Given the description of an element on the screen output the (x, y) to click on. 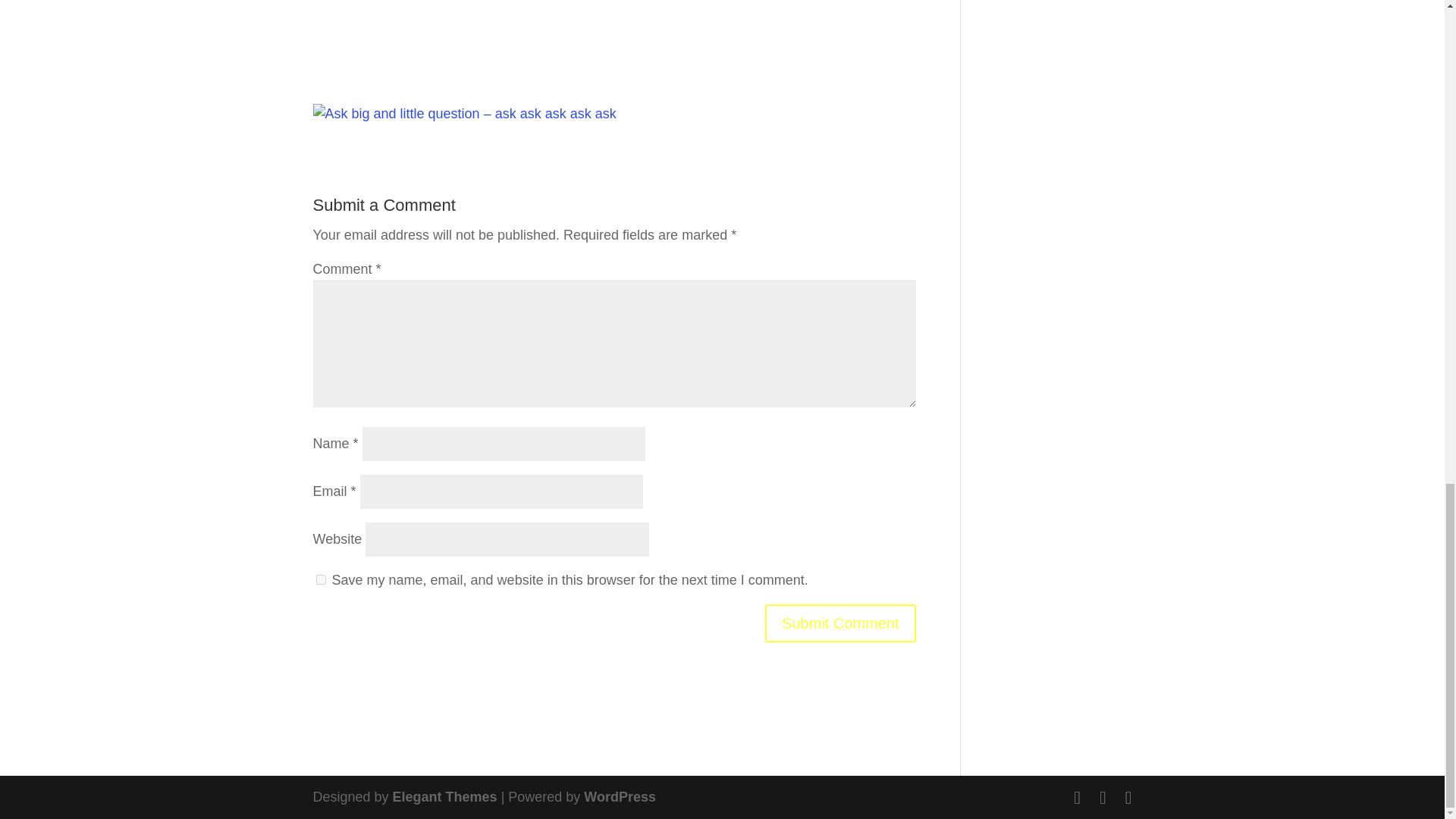
Submit Comment (840, 623)
Elegant Themes (445, 796)
Premium WordPress Themes (445, 796)
WordPress (619, 796)
yes (319, 579)
Submit Comment (840, 623)
